Given the description of an element on the screen output the (x, y) to click on. 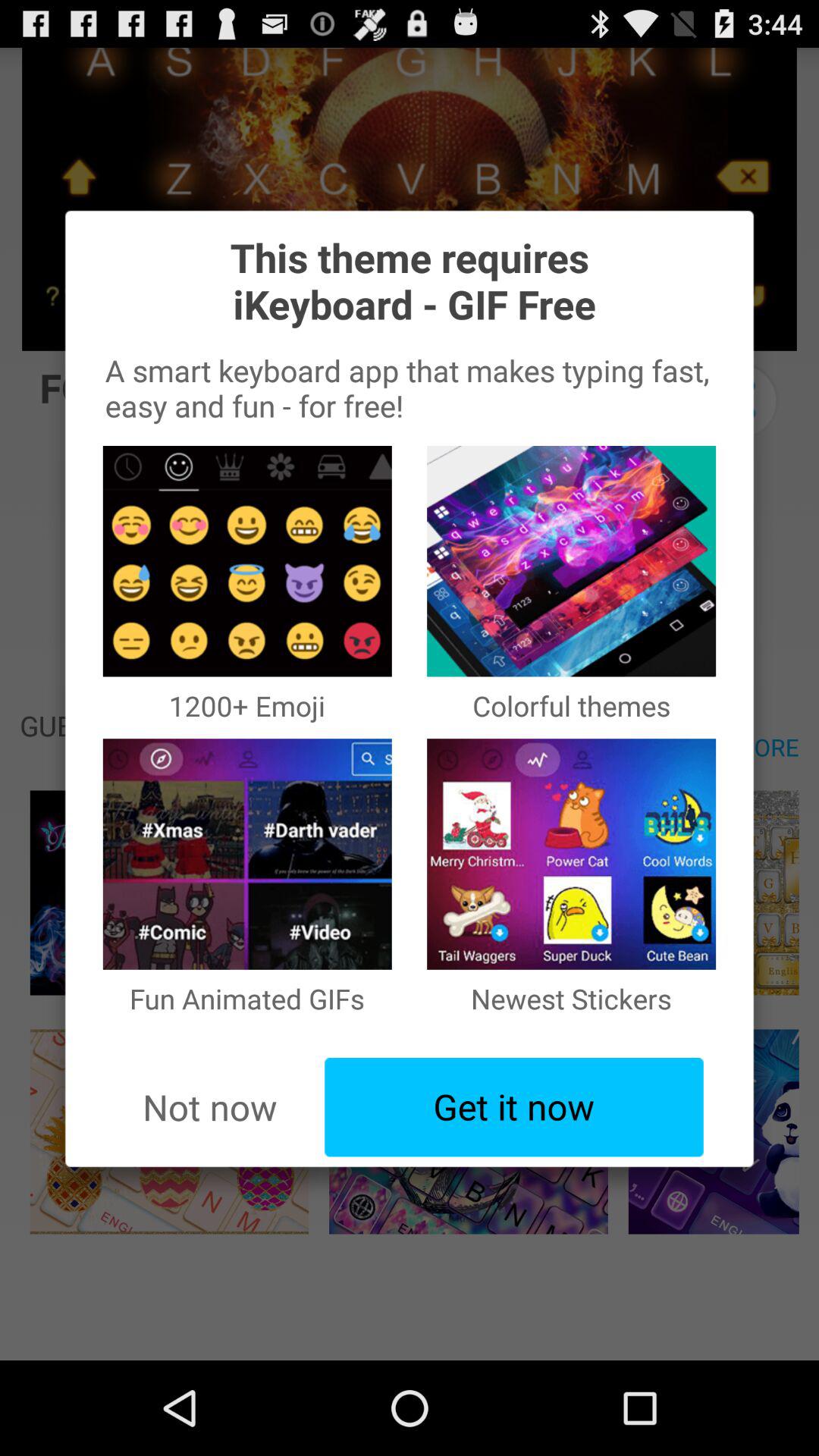
swipe to not now icon (209, 1106)
